Given the description of an element on the screen output the (x, y) to click on. 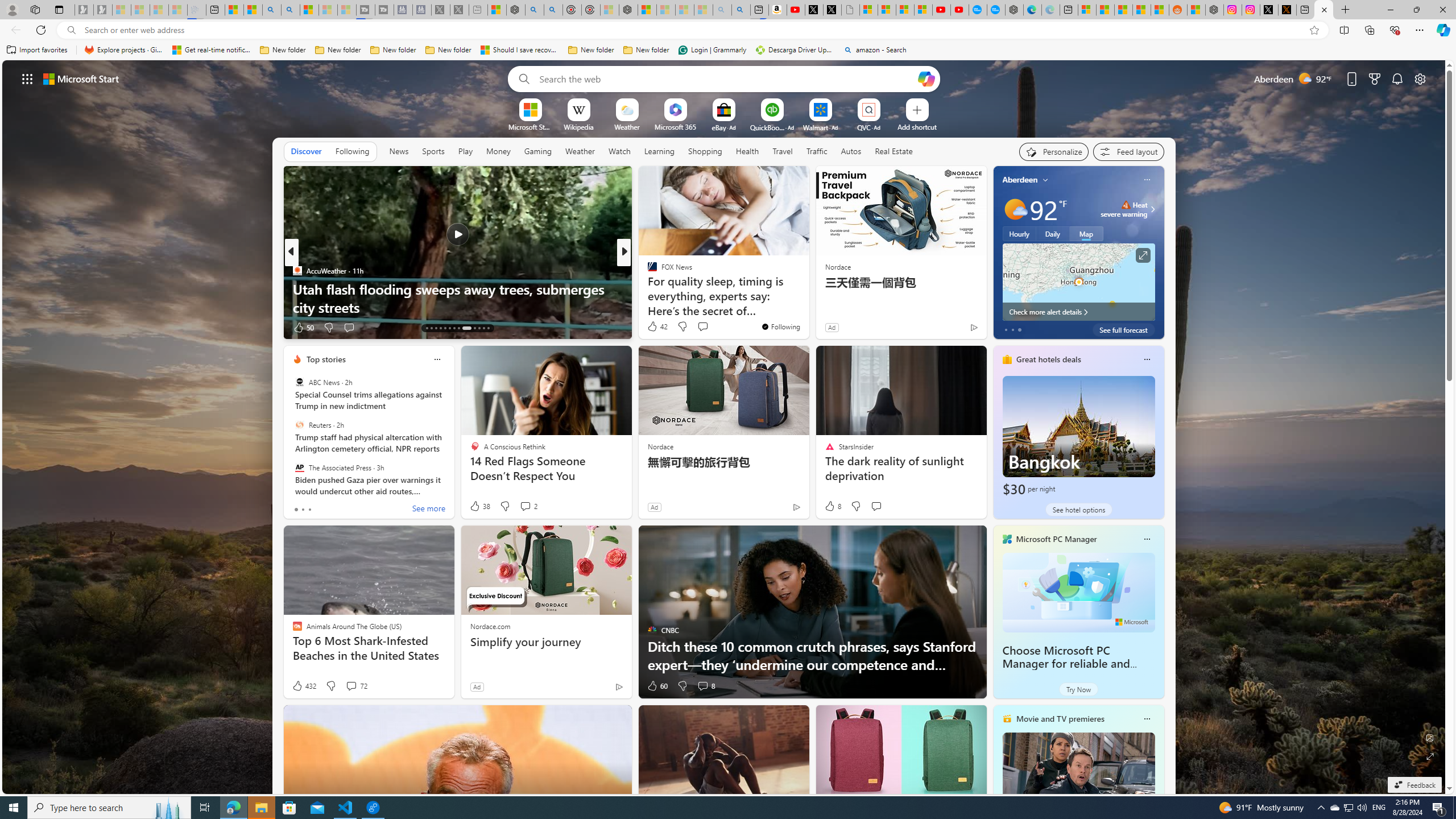
Real Estate (893, 151)
Ad Choice (619, 686)
Traffic (816, 151)
Play (465, 151)
AutomationID: tab-23 (478, 328)
BRAINY DOSE (647, 270)
poe - Search (533, 9)
Mostly sunny (1014, 208)
Class: control (27, 78)
News (398, 151)
